Given the description of an element on the screen output the (x, y) to click on. 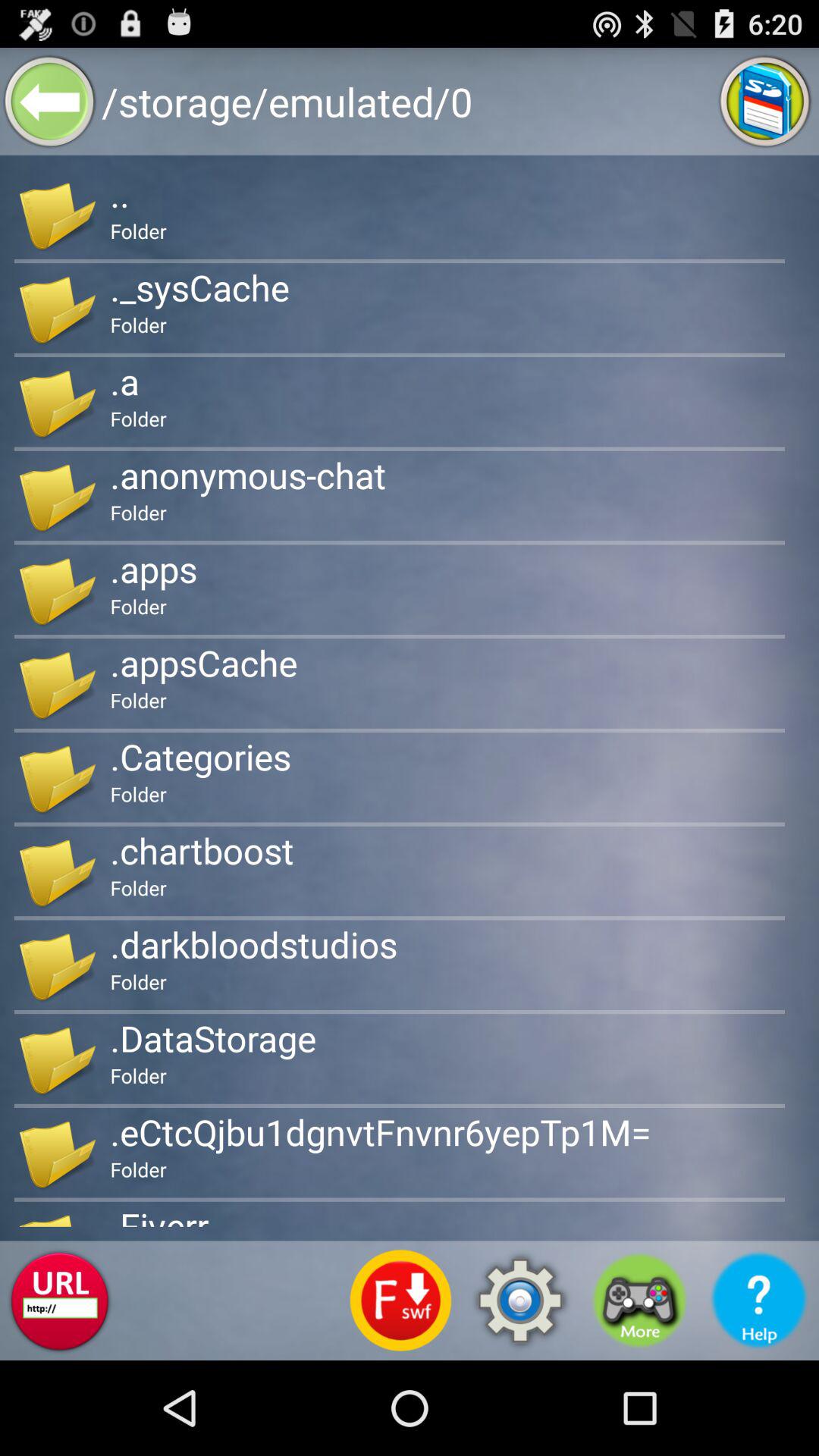
choose the icon above folder item (202, 850)
